Given the description of an element on the screen output the (x, y) to click on. 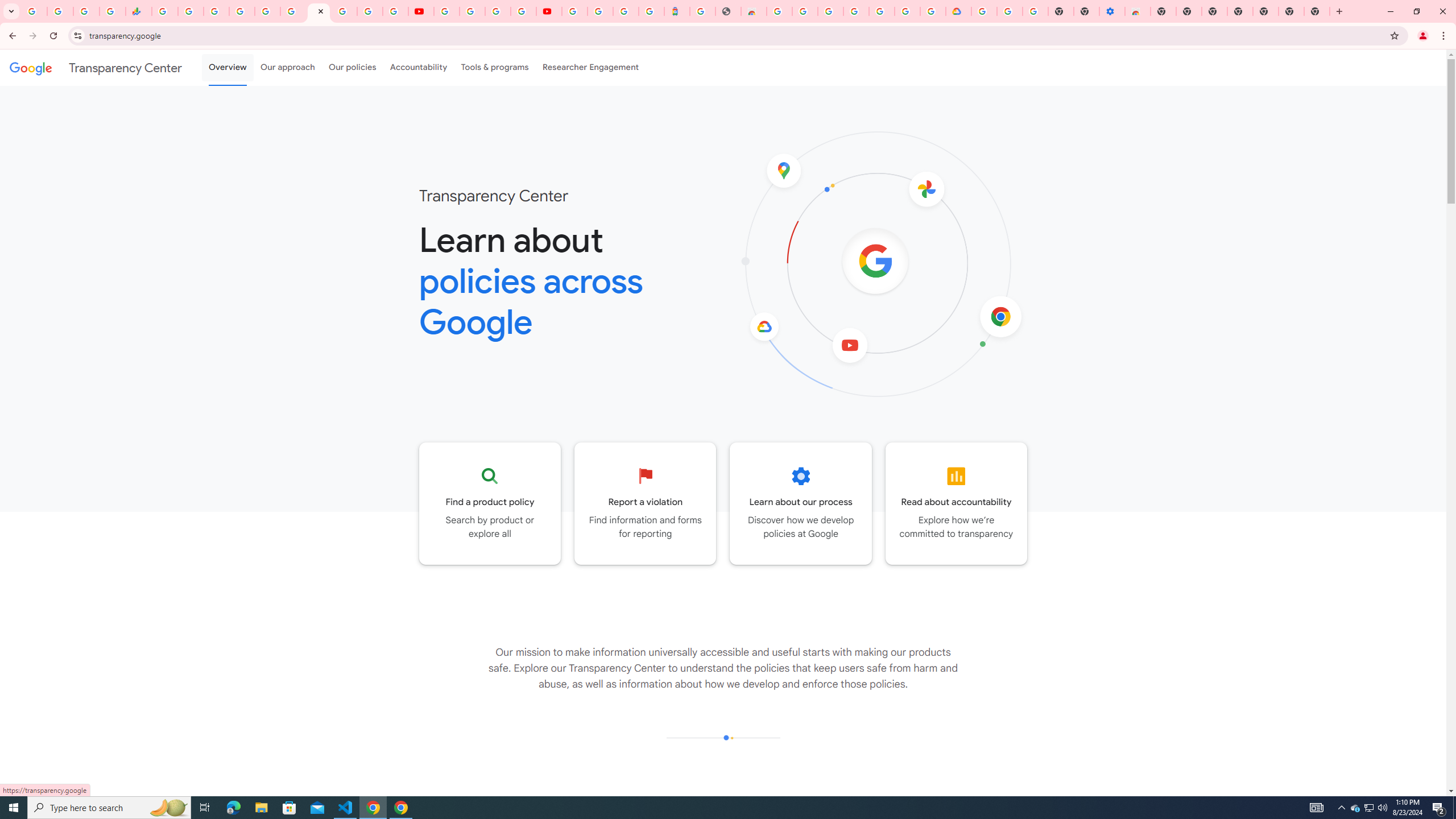
Sign in - Google Accounts (574, 11)
Minimize (1390, 11)
Turn cookies on or off - Computer - Google Account Help (1034, 11)
Back (10, 35)
Go to the Product policy page (490, 503)
Accountability (418, 67)
Transparency Center (95, 67)
Content Creator Programs & Opportunities - YouTube Creators (548, 11)
Our approach (287, 67)
Restore (1416, 11)
Researcher Engagement (590, 67)
Go to the Accountability page (956, 503)
New Tab (1162, 11)
